Given the description of an element on the screen output the (x, y) to click on. 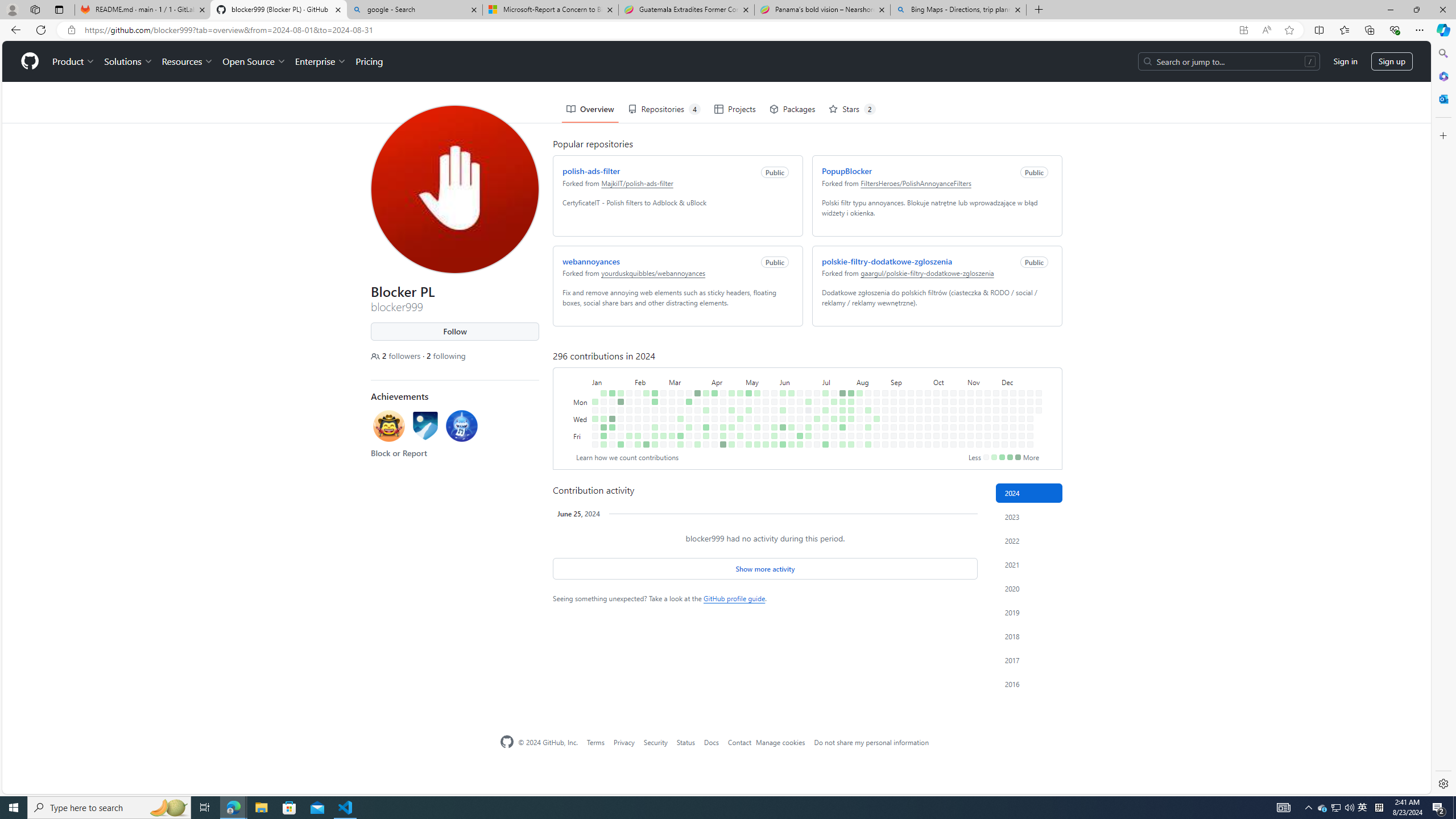
No contributions on February 12th. (643, 360)
No contributions on March 28th. (694, 386)
No contributions on February 13th. (643, 369)
No contributions on April 8th. (711, 360)
No contributions on February 6th. (635, 369)
3 contributions on March 16th. (680, 444)
No contributions on September 22nd. (917, 351)
No contributions on December 2nd. (1002, 360)
No contributions on June 20th. (797, 386)
No contributions on June 29th. (807, 444)
No contributions on March 10th. (678, 351)
2 contributions on May 30th. (771, 386)
No contributions on November 14th. (976, 386)
No contributions on April 13th. (714, 444)
